Given the description of an element on the screen output the (x, y) to click on. 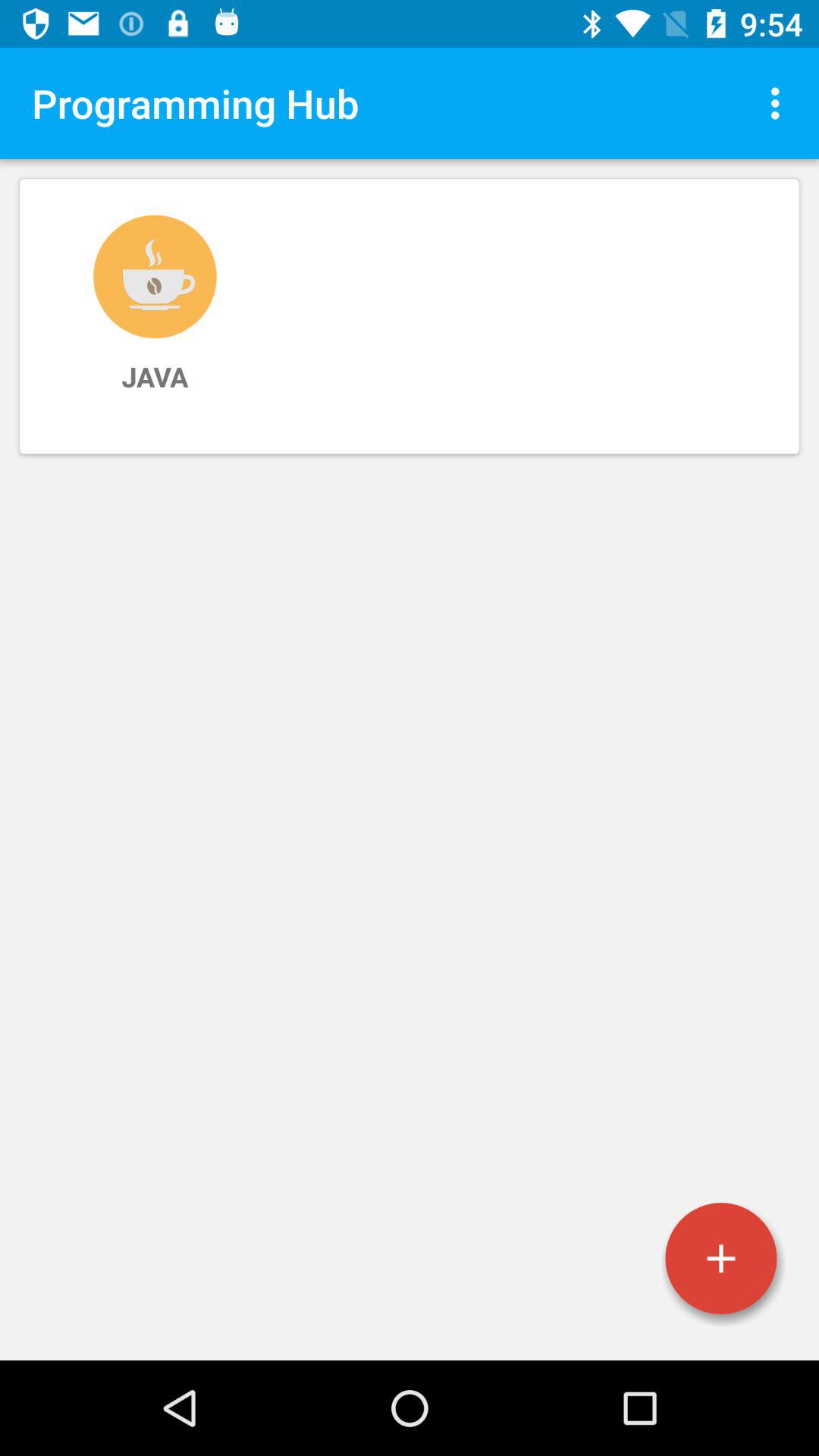
launch item next to the programming hub icon (779, 103)
